Given the description of an element on the screen output the (x, y) to click on. 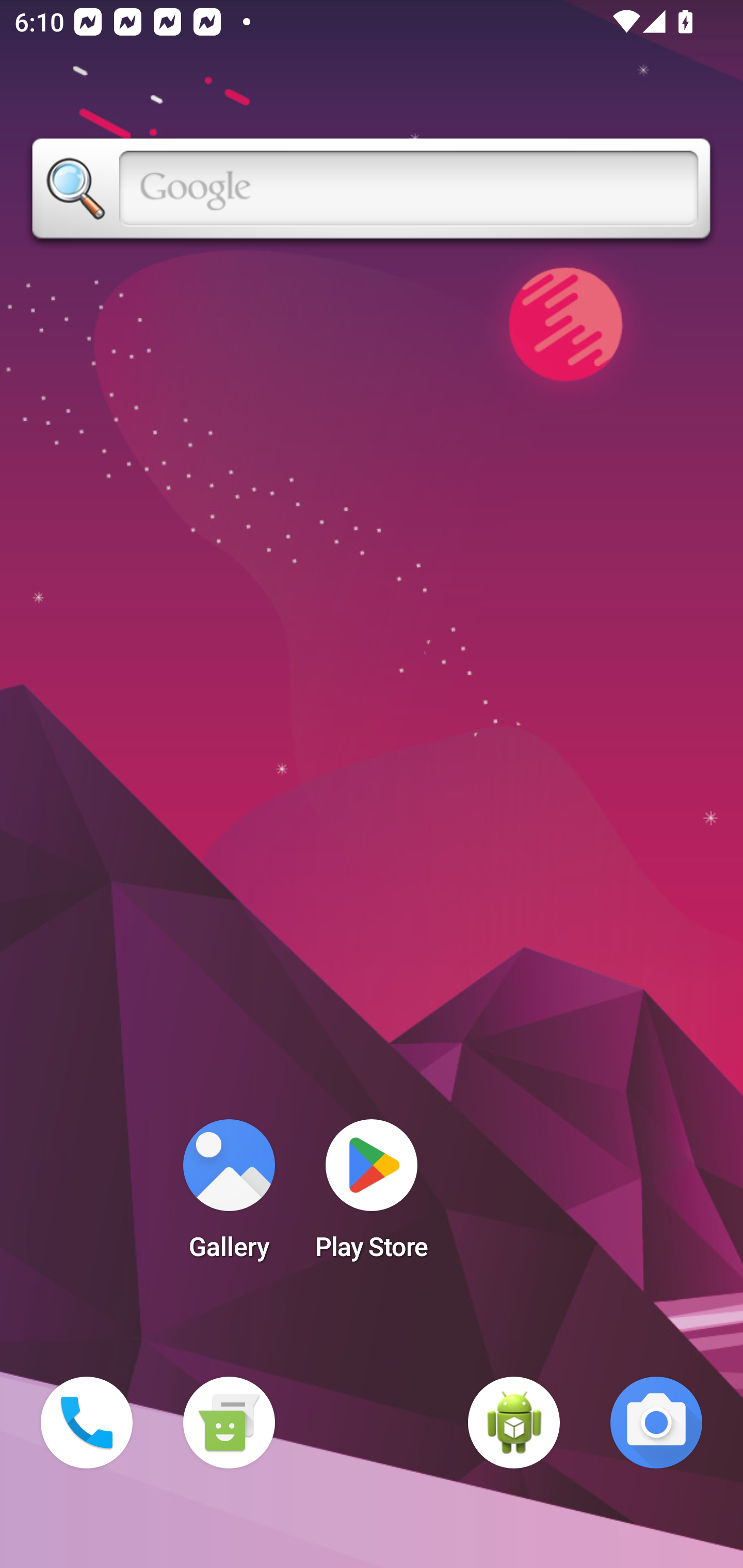
Gallery (228, 1195)
Play Store (371, 1195)
Phone (86, 1422)
Messaging (228, 1422)
WebView Browser Tester (513, 1422)
Camera (656, 1422)
